Given the description of an element on the screen output the (x, y) to click on. 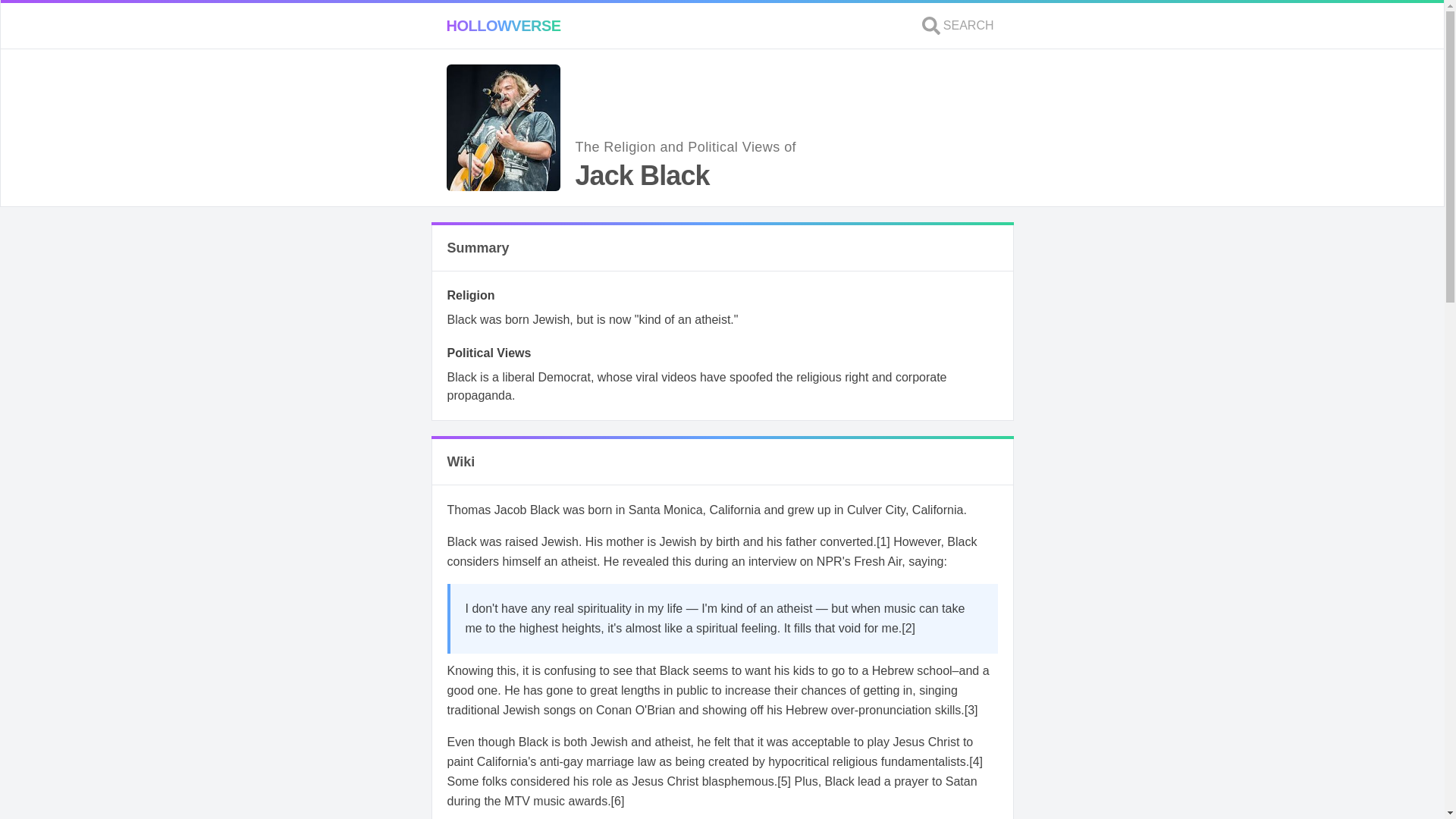
Jack Black puts on a Hebrew show (970, 709)
SEARCH (957, 25)
Jack Black (882, 541)
Jack Black: 'I'm Kind of an Atheist (908, 627)
HOLLOWVERSE (502, 25)
